Given the description of an element on the screen output the (x, y) to click on. 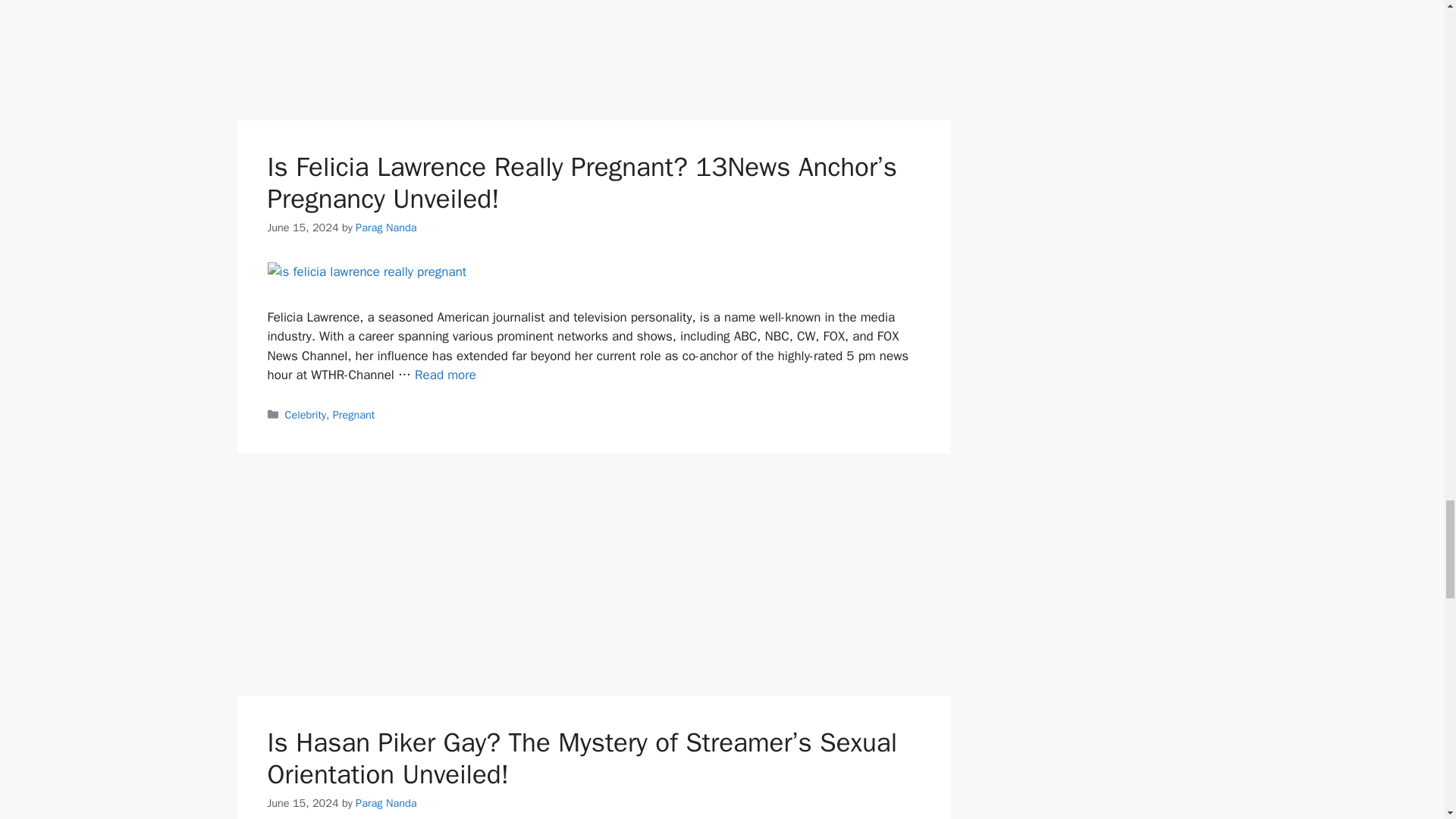
View all posts by Parag Nanda (385, 227)
